Given the description of an element on the screen output the (x, y) to click on. 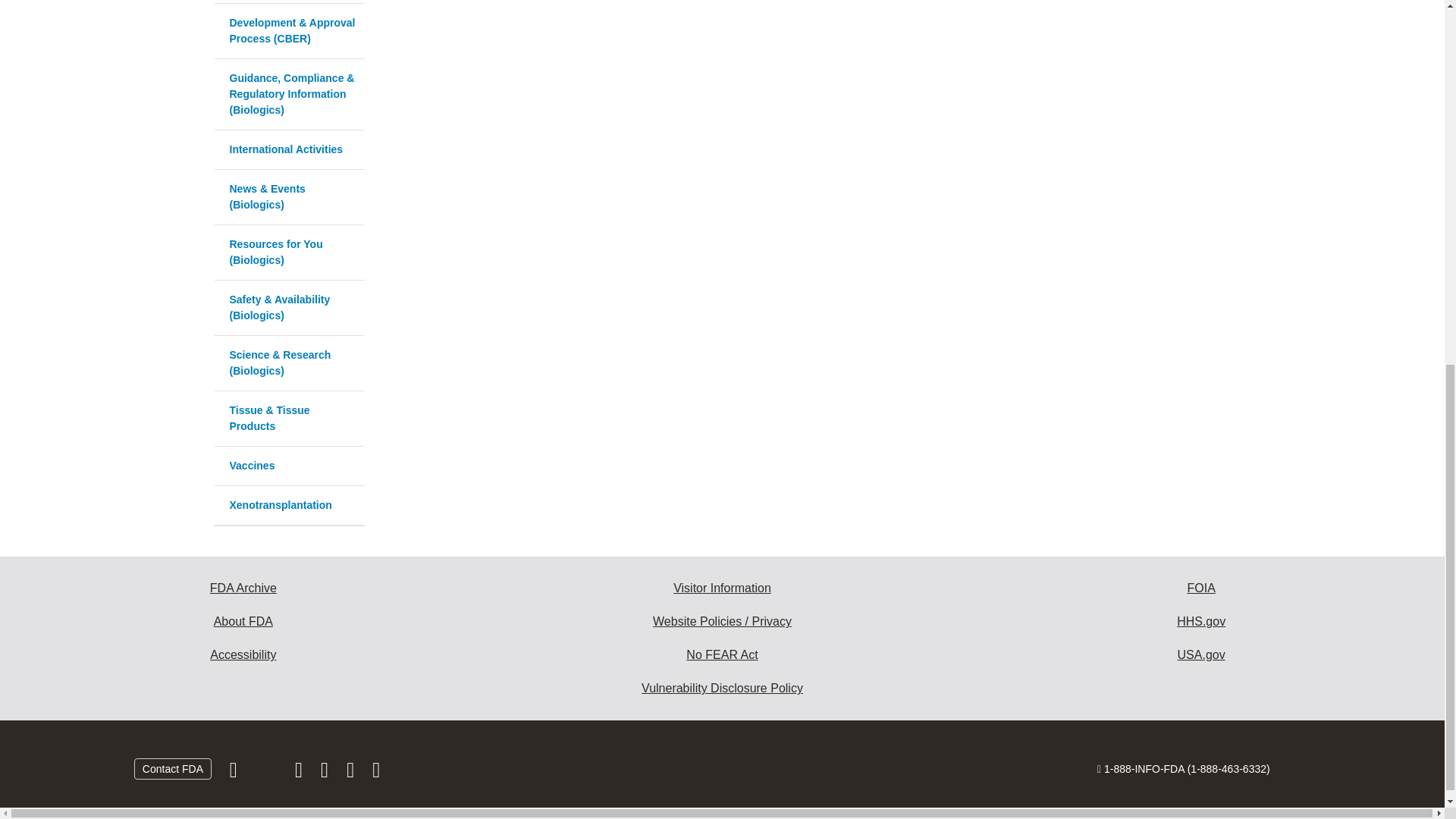
View FDA videos on YouTube (352, 773)
Follow FDA on X (266, 773)
Follow FDA on Facebook (234, 773)
Follow FDA on Instagram (299, 773)
Follow FDA on LinkedIn (326, 773)
Subscribe to FDA RSS feeds (376, 773)
Health and Human Services (1200, 621)
Freedom of Information Act (1200, 588)
